Given the description of an element on the screen output the (x, y) to click on. 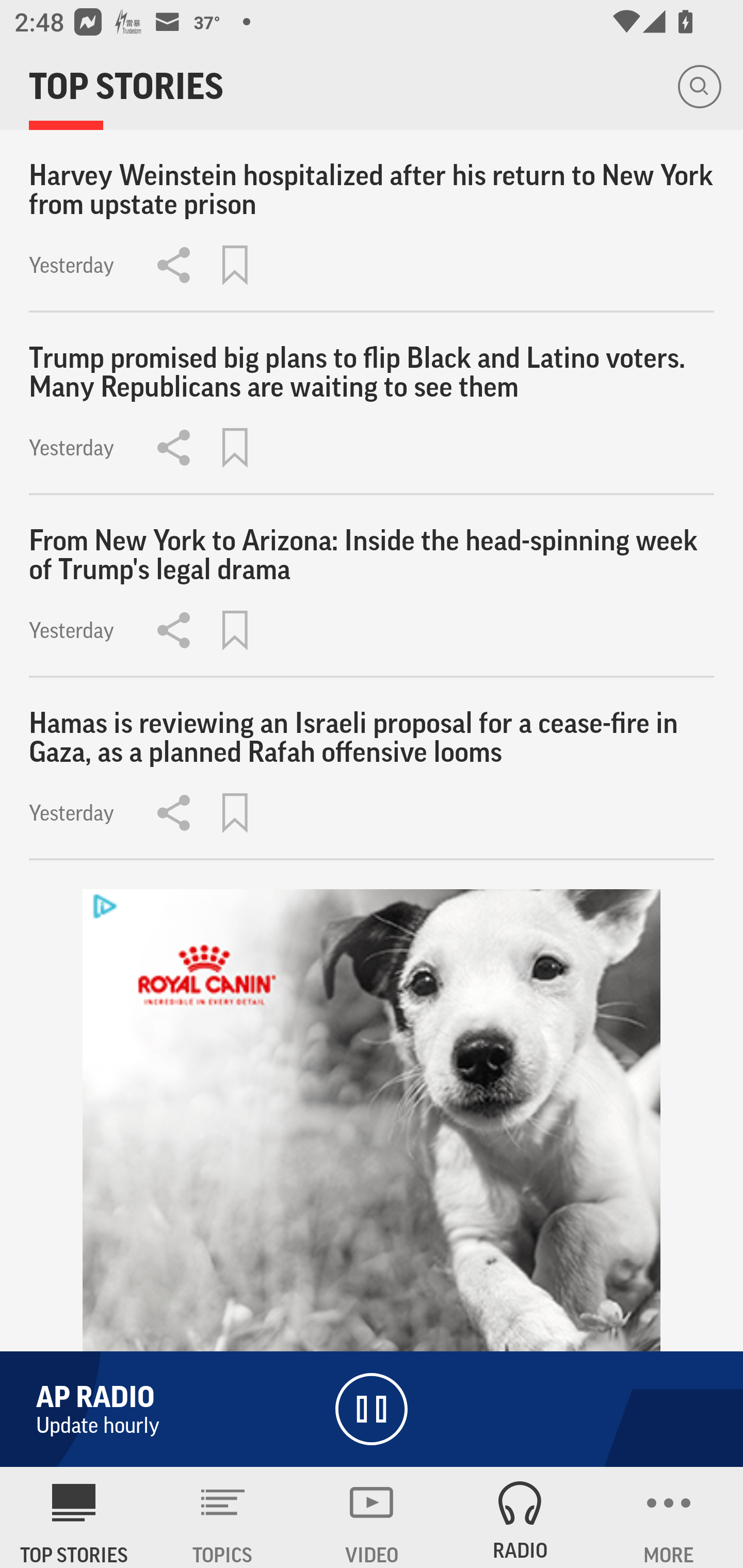
314l1s1f_320x480 (371, 1178)
AP RADIO Update hourly (371, 1409)
AP News TOP STORIES (74, 1517)
TOPICS (222, 1517)
VIDEO (371, 1517)
RADIO (519, 1517)
MORE (668, 1517)
